Given the description of an element on the screen output the (x, y) to click on. 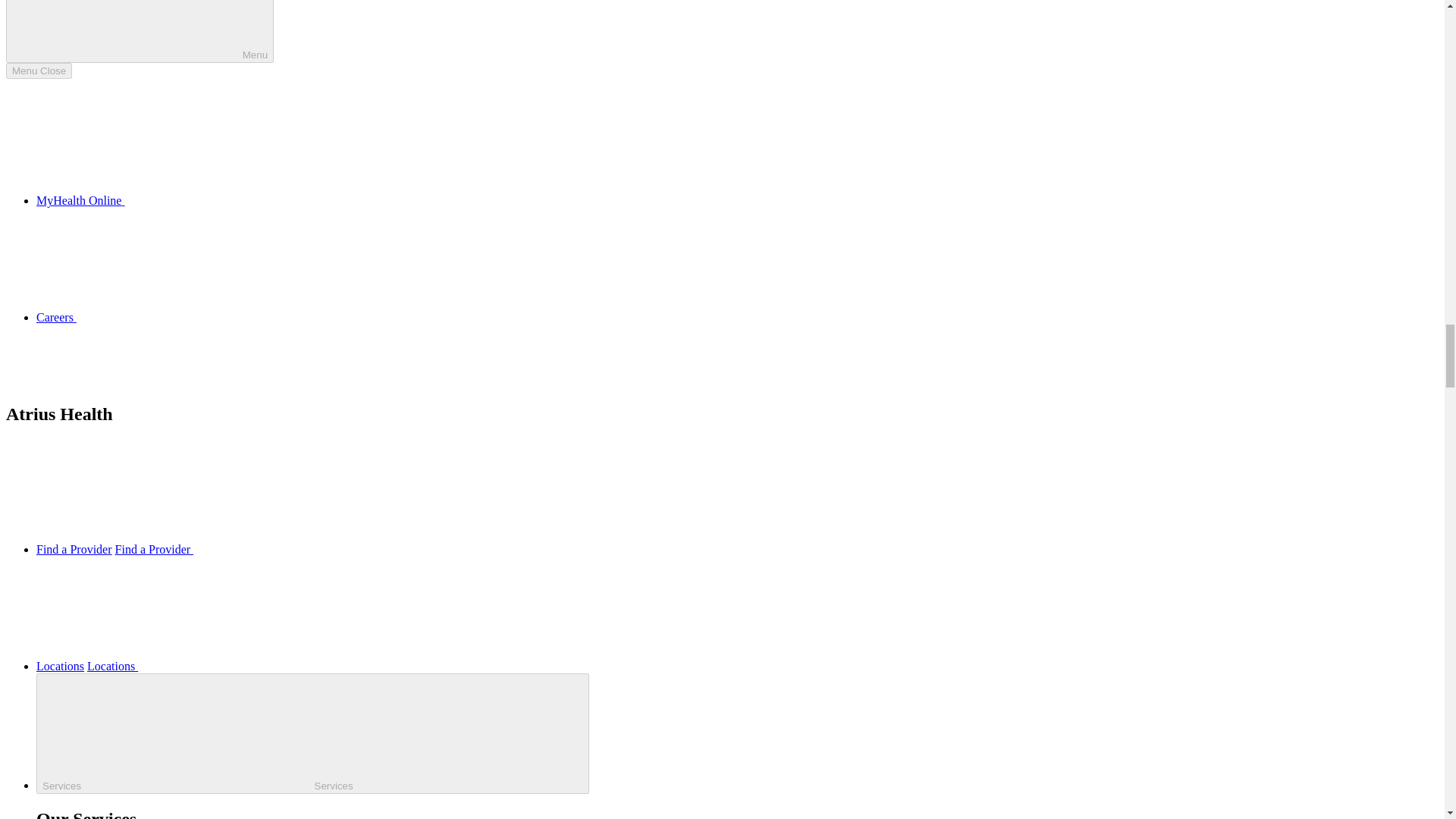
Locations (226, 666)
MyHealth Online (194, 200)
Menu (139, 31)
link to online patient portal  (194, 200)
Menu (139, 31)
Locations (60, 666)
Menu Close (38, 70)
Careers (170, 317)
link to Atrius Health careers section (170, 317)
